Given the description of an element on the screen output the (x, y) to click on. 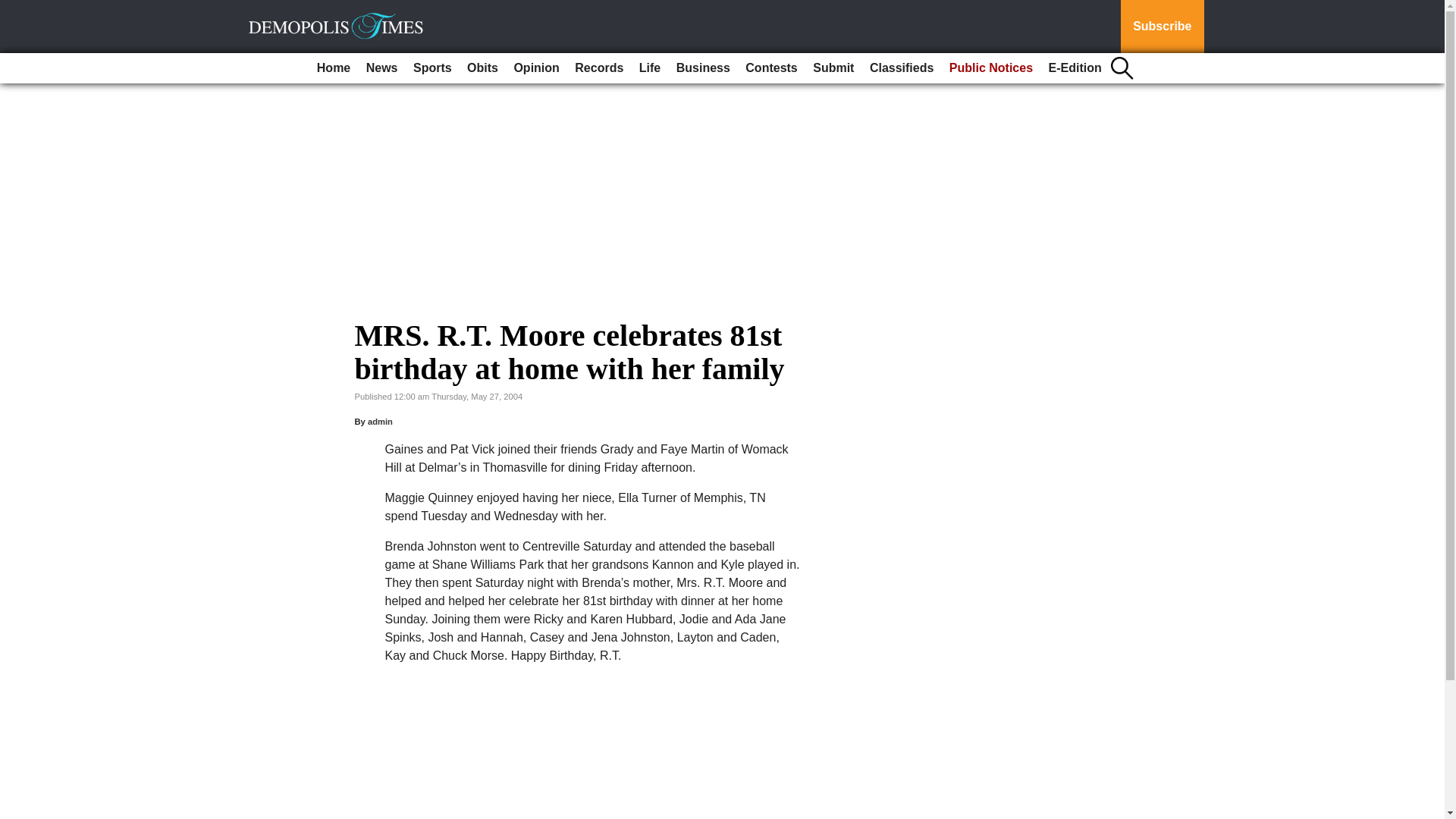
Submit (833, 68)
Obits (482, 68)
Subscribe (1162, 26)
Business (702, 68)
Public Notices (991, 68)
Records (598, 68)
Contests (771, 68)
E-Edition (1075, 68)
Home (333, 68)
News (381, 68)
